Given the description of an element on the screen output the (x, y) to click on. 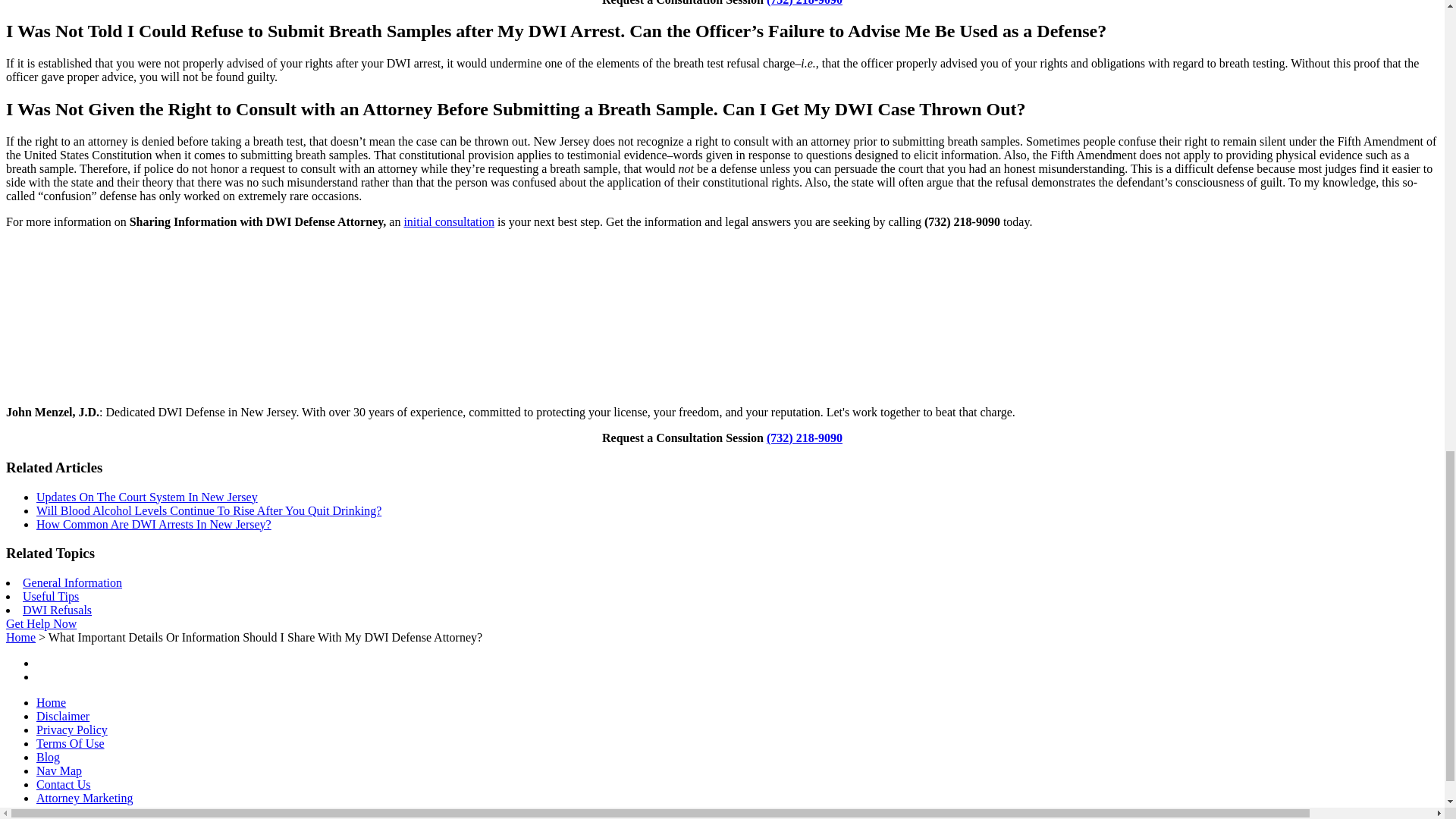
Privacy Policy (71, 729)
Go to Law Offices of John Menzel. (19, 636)
Home (50, 702)
Disclaimer (62, 716)
initial consultation (449, 221)
Blog (47, 757)
Terms Of Use (70, 743)
General Information (72, 582)
Attorney Marketing (84, 797)
Get Help Now (41, 623)
DWI Refusals (57, 609)
Nav Map (58, 770)
Contact Us (63, 784)
Home (19, 636)
